Given the description of an element on the screen output the (x, y) to click on. 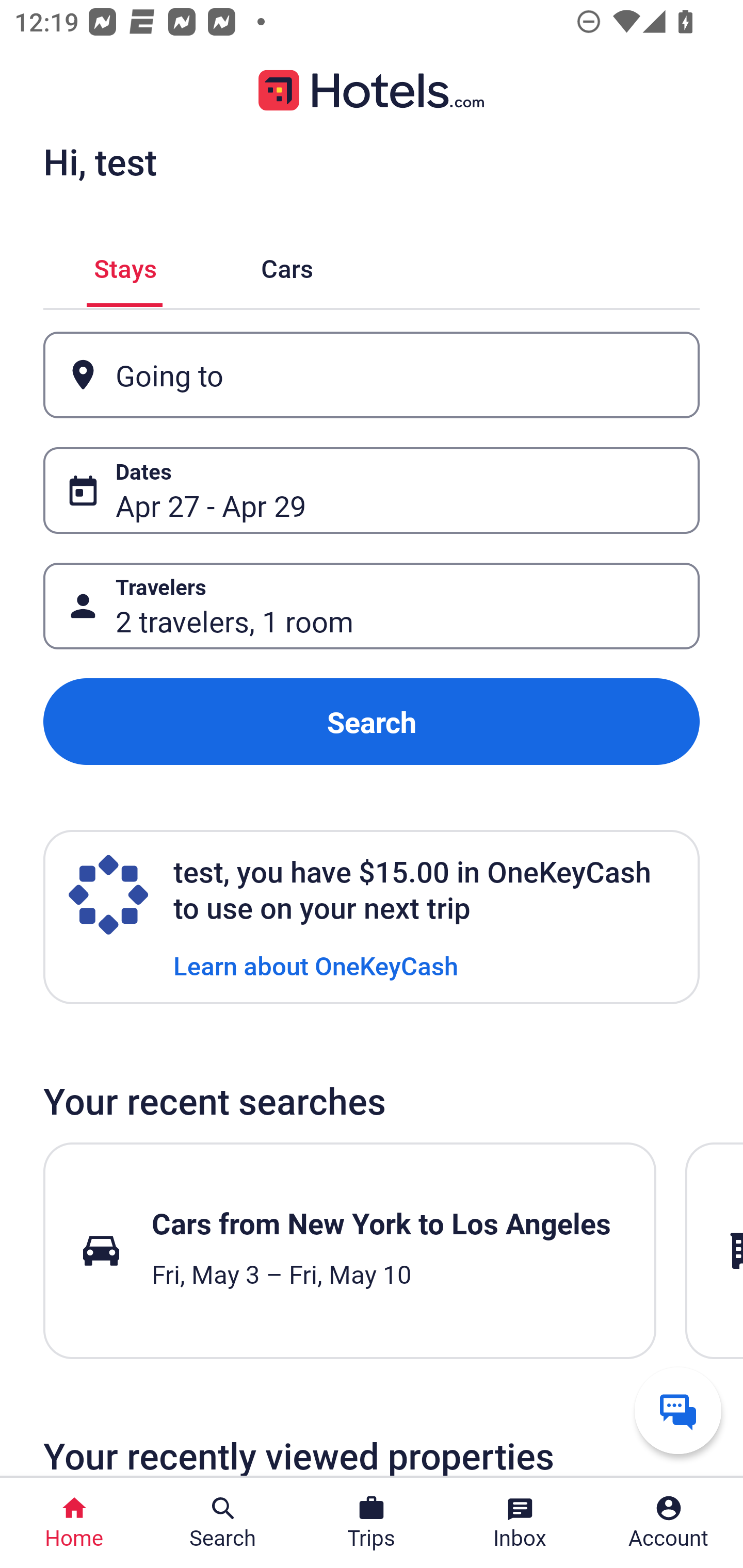
Hi, test (99, 161)
Cars (286, 265)
Going to Button (371, 375)
Dates Button Apr 27 - Apr 29 (371, 489)
Travelers Button 2 travelers, 1 room (371, 605)
Search (371, 721)
Learn about OneKeyCash Learn about OneKeyCash Link (315, 964)
Get help from a virtual agent (677, 1410)
Search Search Button (222, 1522)
Trips Trips Button (371, 1522)
Inbox Inbox Button (519, 1522)
Account Profile. Button (668, 1522)
